Given the description of an element on the screen output the (x, y) to click on. 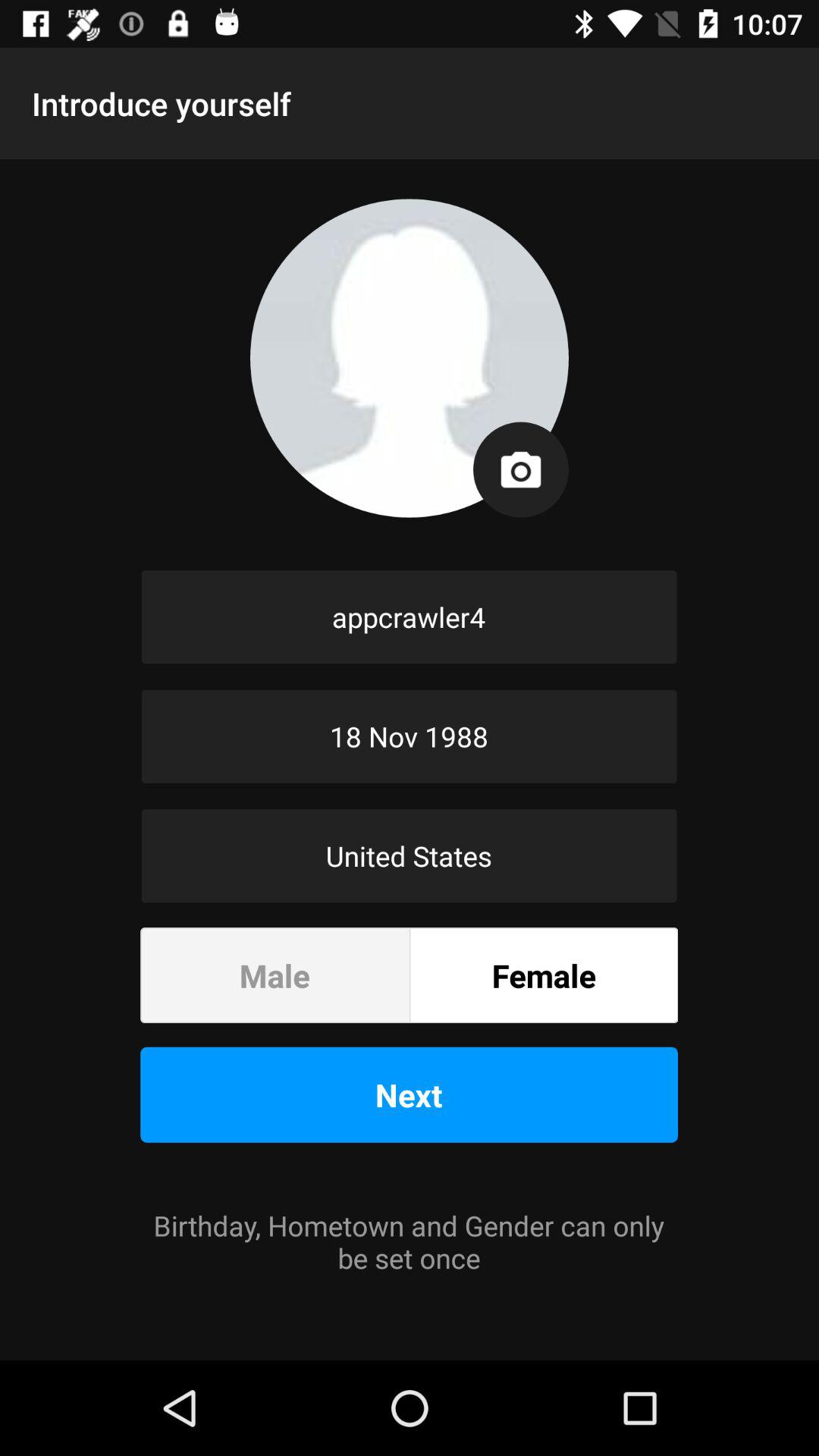
press female icon (543, 975)
